Given the description of an element on the screen output the (x, y) to click on. 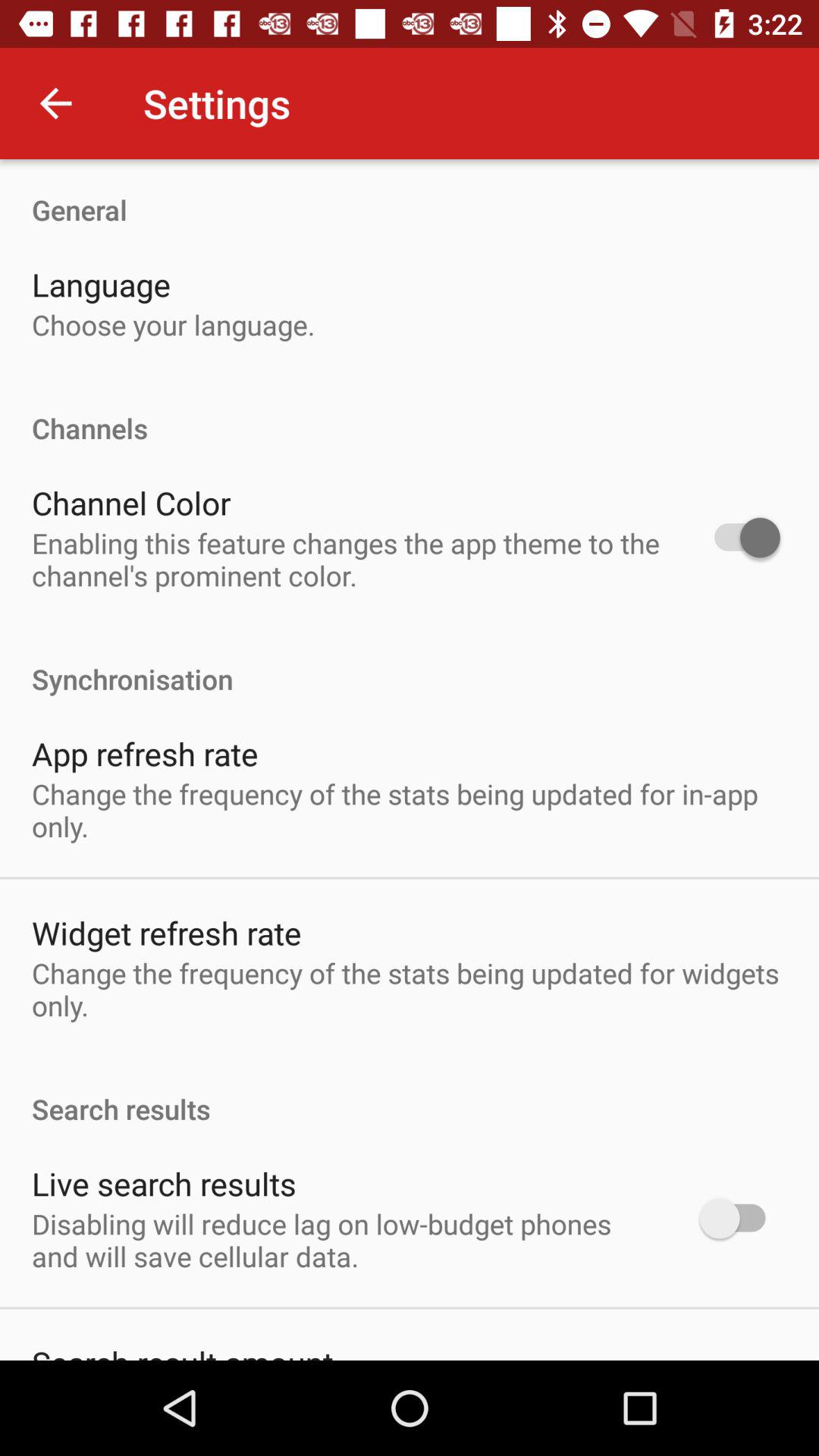
tap icon below enabling this feature (409, 662)
